Given the description of an element on the screen output the (x, y) to click on. 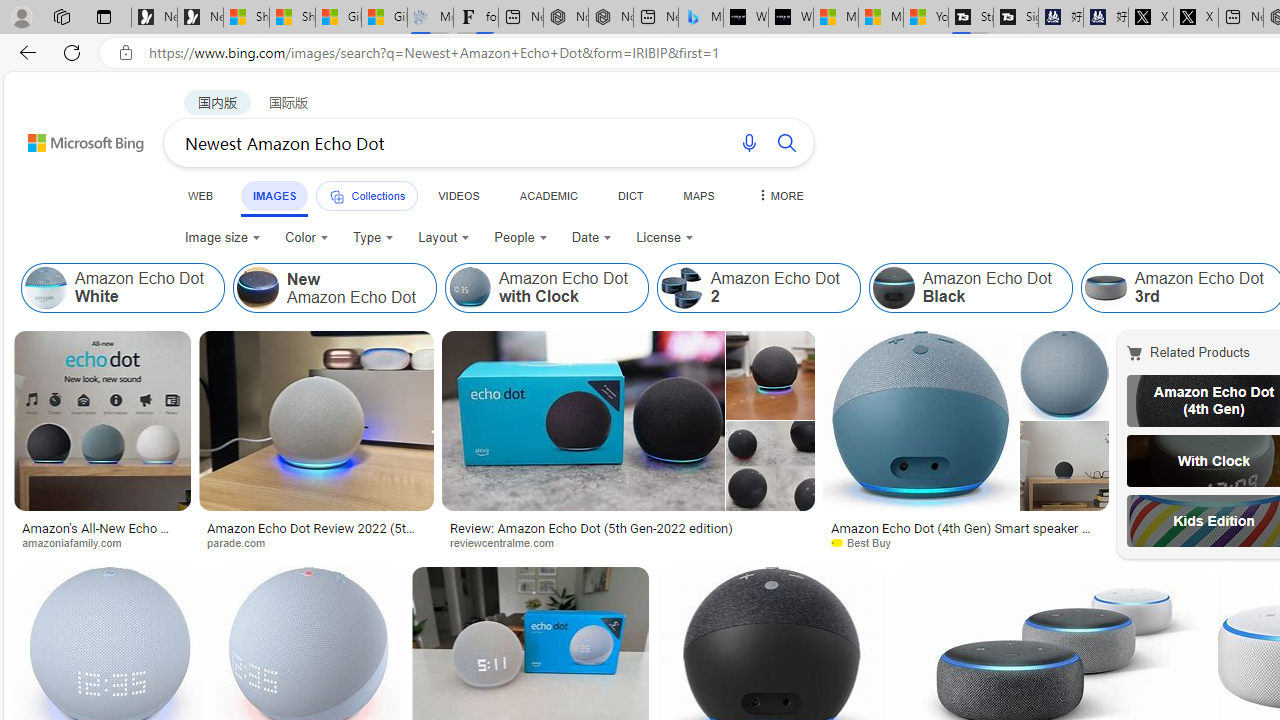
Amazon Echo Dot White (45, 287)
Amazon Echo Dot 2 (758, 287)
DICT (630, 195)
WEB (201, 195)
Image size (221, 237)
Amazon Echo Dot Black (893, 287)
